Given the description of an element on the screen output the (x, y) to click on. 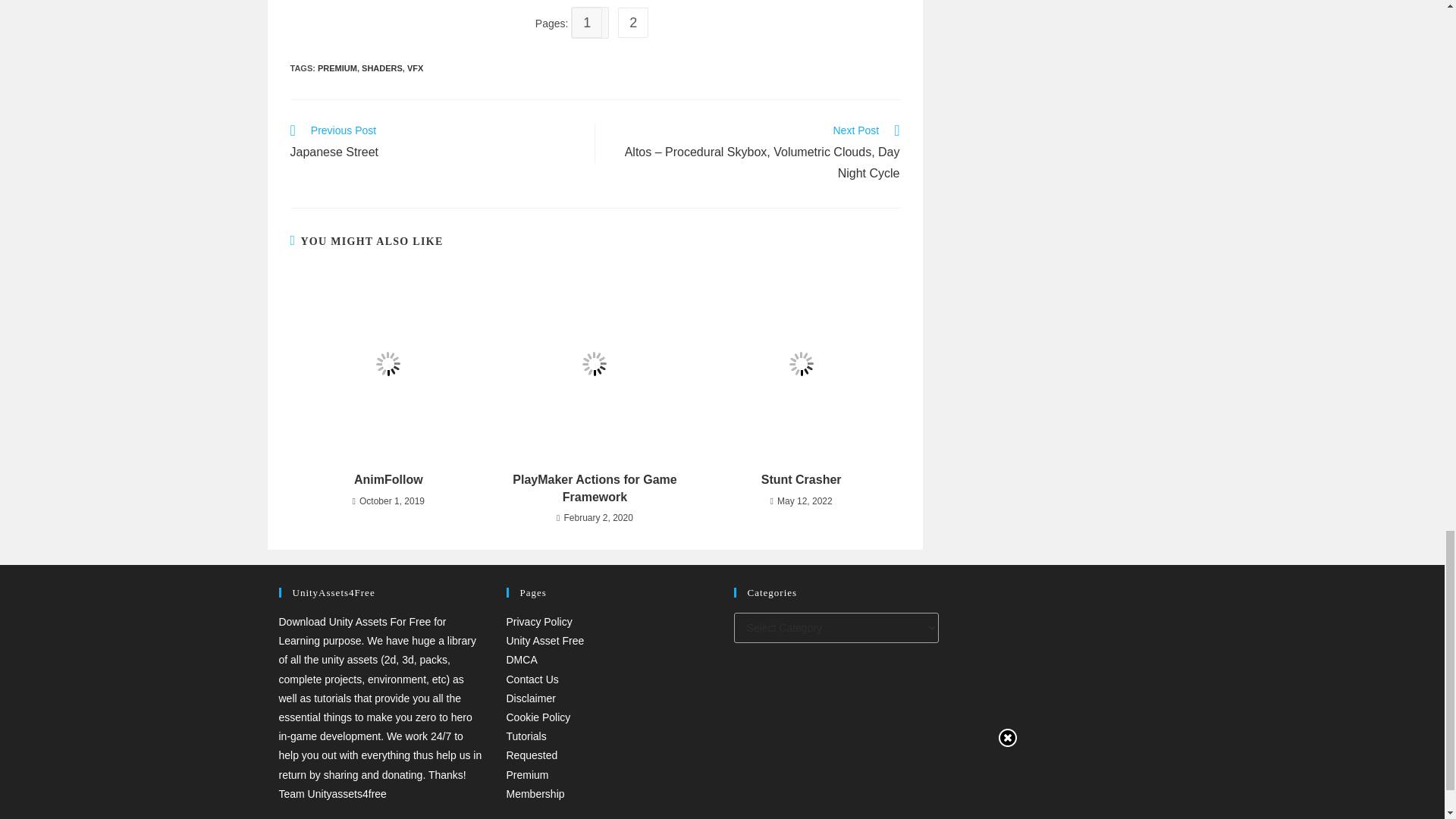
SHADERS (382, 67)
VFX (433, 142)
2 (415, 67)
Stunt Crasher (635, 23)
AnimFollow (801, 479)
PlayMaker Actions for Game Framework (387, 479)
PREMIUM (594, 488)
